Given the description of an element on the screen output the (x, y) to click on. 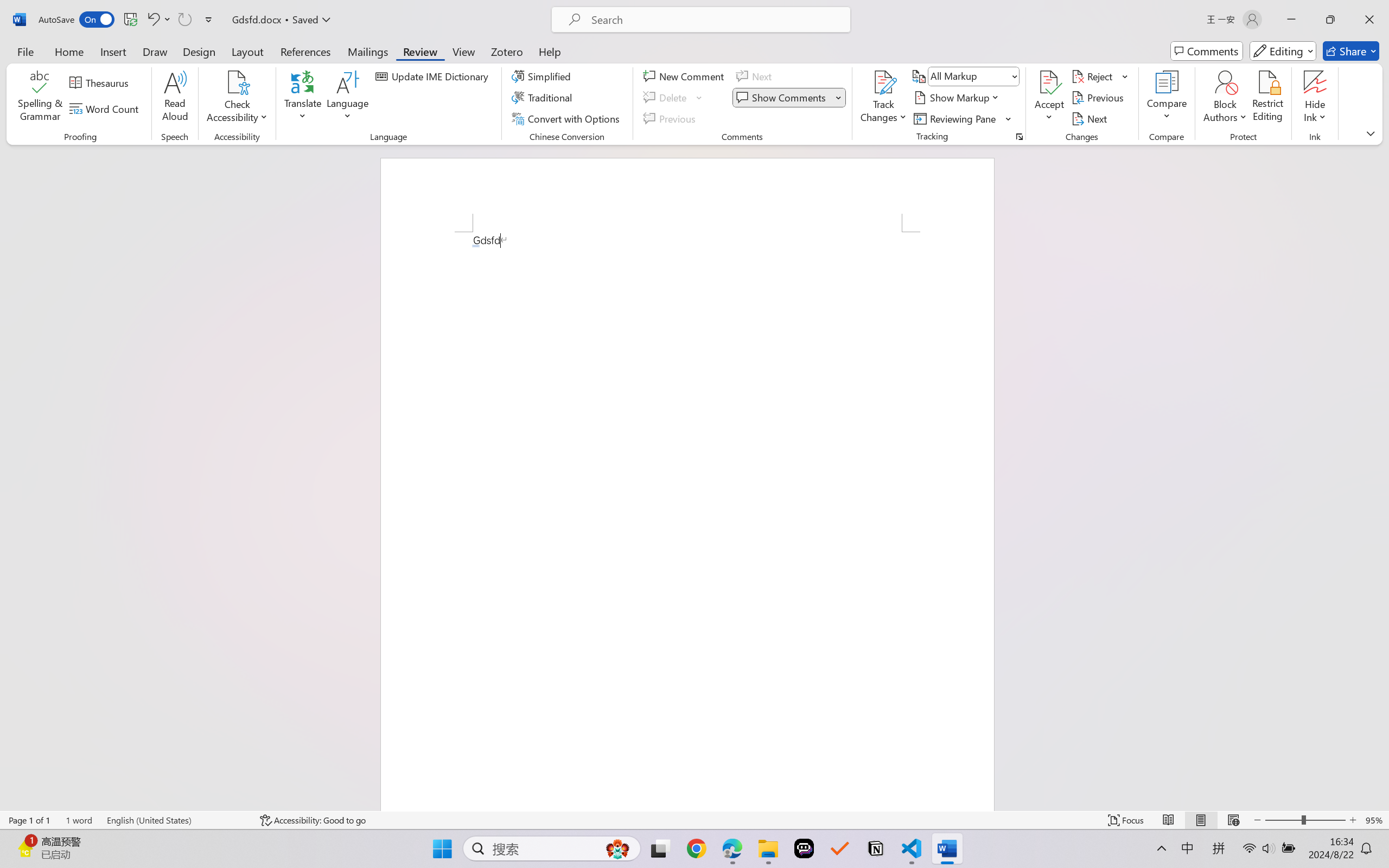
Open (1014, 76)
Microsoft search (715, 19)
Display for Review (973, 75)
Block Authors (1224, 97)
Show Comments (788, 97)
Check Accessibility (237, 97)
Change Tracking Options... (1019, 136)
Reject and Move to Next (1093, 75)
